Given the description of an element on the screen output the (x, y) to click on. 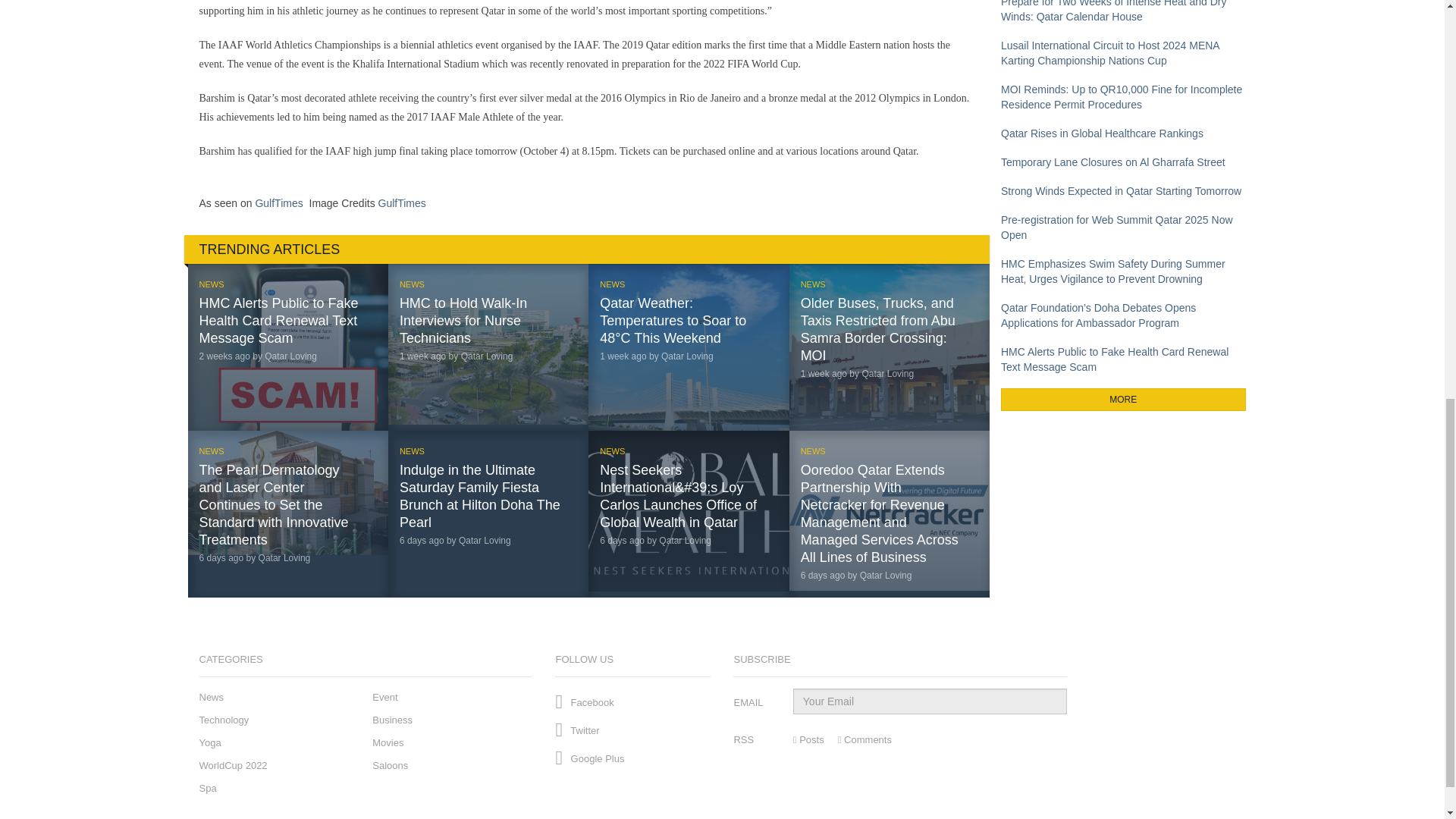
Qatar Loving (687, 356)
Qatar Loving (285, 557)
HMC to Hold Walk-In Interviews for Nurse Technicians (462, 320)
Qatar Loving (484, 540)
Qatar Loving (487, 356)
TRENDING ARTICLES (586, 249)
GulfTimes (278, 203)
Qatar Loving (887, 373)
Qatar Loving (685, 540)
Qatar Loving (290, 356)
GulfTimes (402, 203)
